Given the description of an element on the screen output the (x, y) to click on. 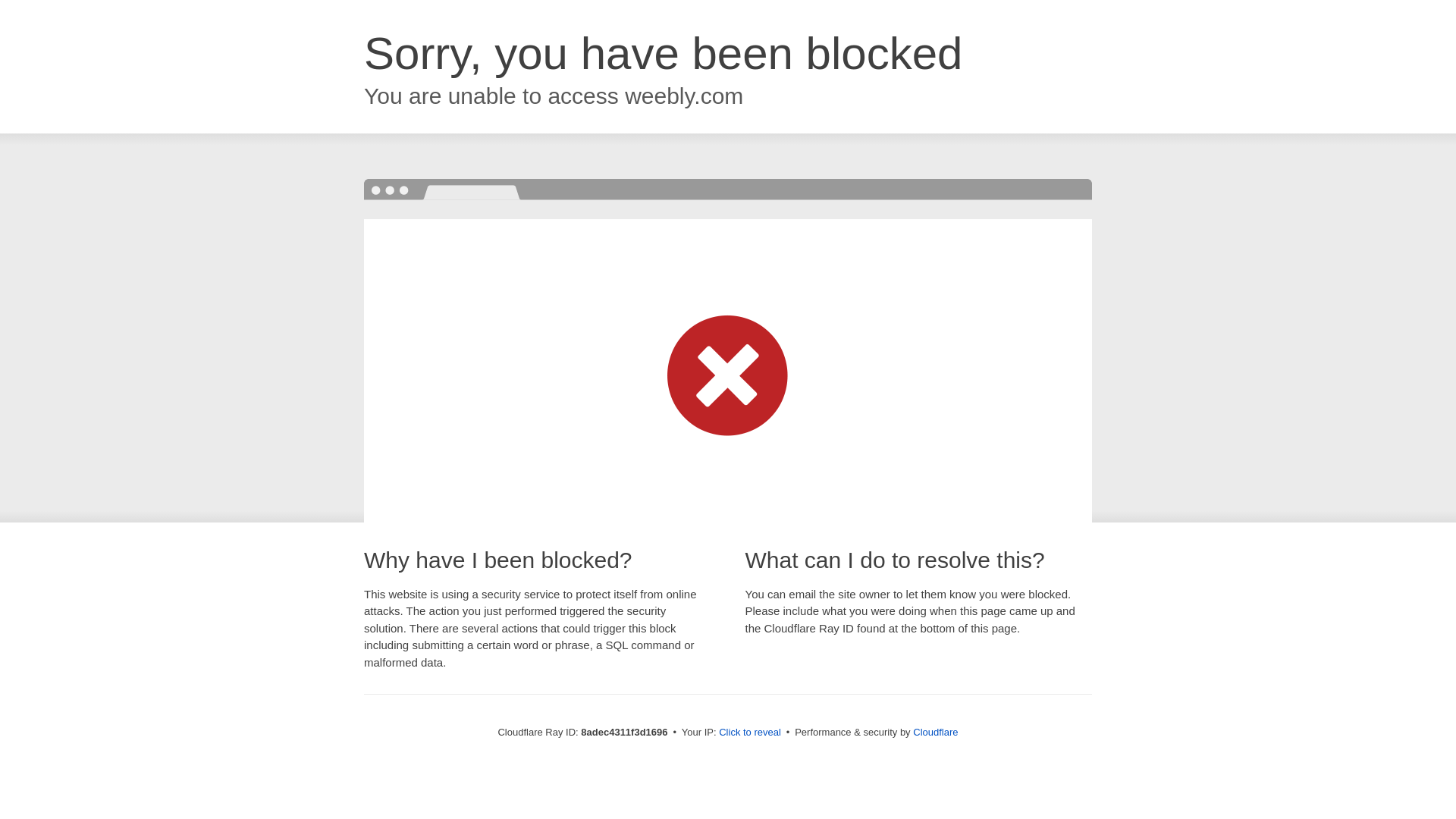
Click to reveal (749, 732)
Cloudflare (935, 731)
